Given the description of an element on the screen output the (x, y) to click on. 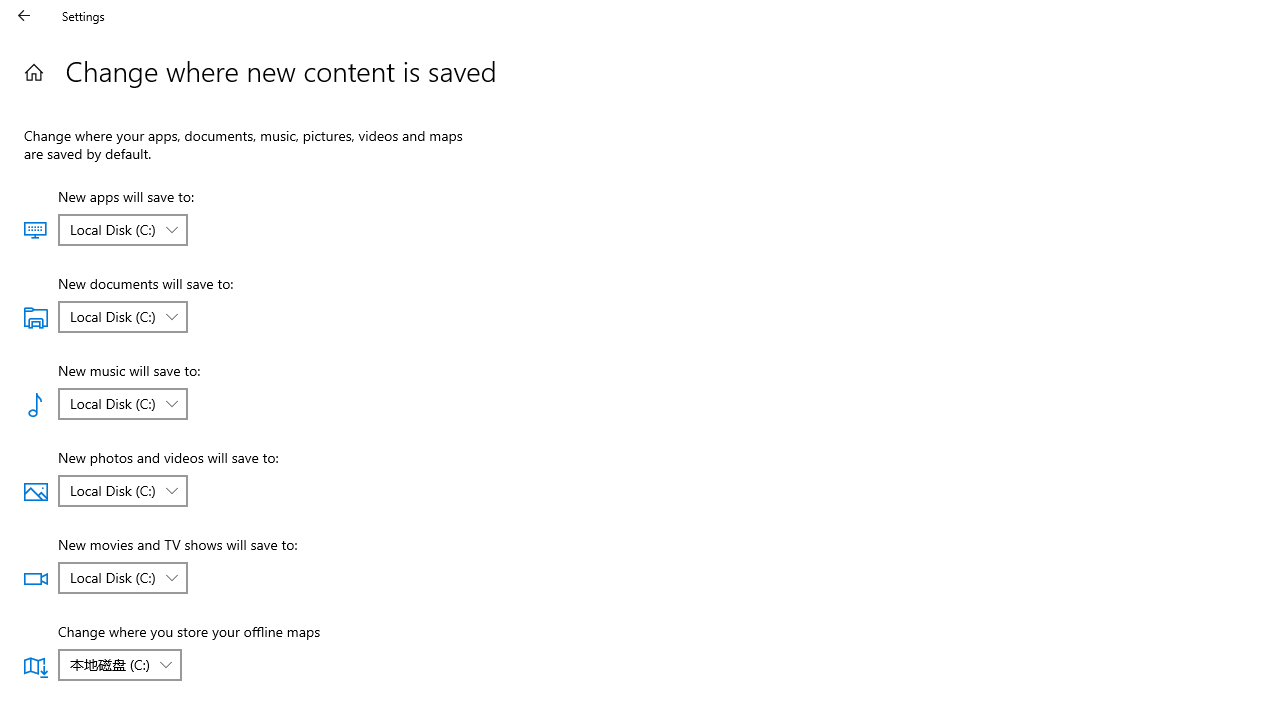
Back (24, 15)
New music will save to: (122, 403)
New documents will save to: (122, 316)
Home (33, 71)
New movies and TV shows will save to: (122, 578)
New photos and videos will save to: (122, 490)
Change where you store your offline maps (119, 664)
New apps will save to: (122, 229)
